Given the description of an element on the screen output the (x, y) to click on. 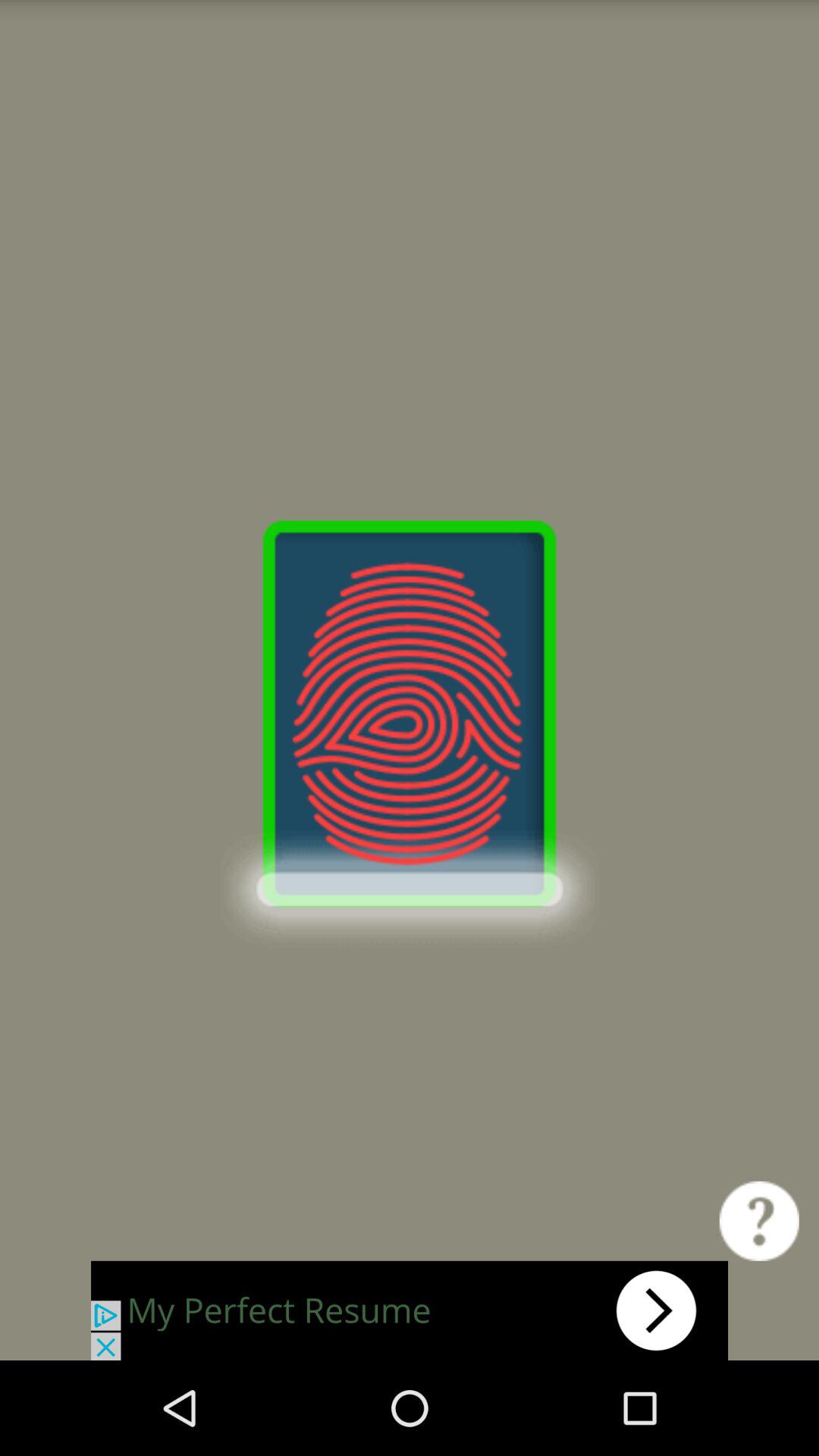
go to option (409, 1310)
